Given the description of an element on the screen output the (x, y) to click on. 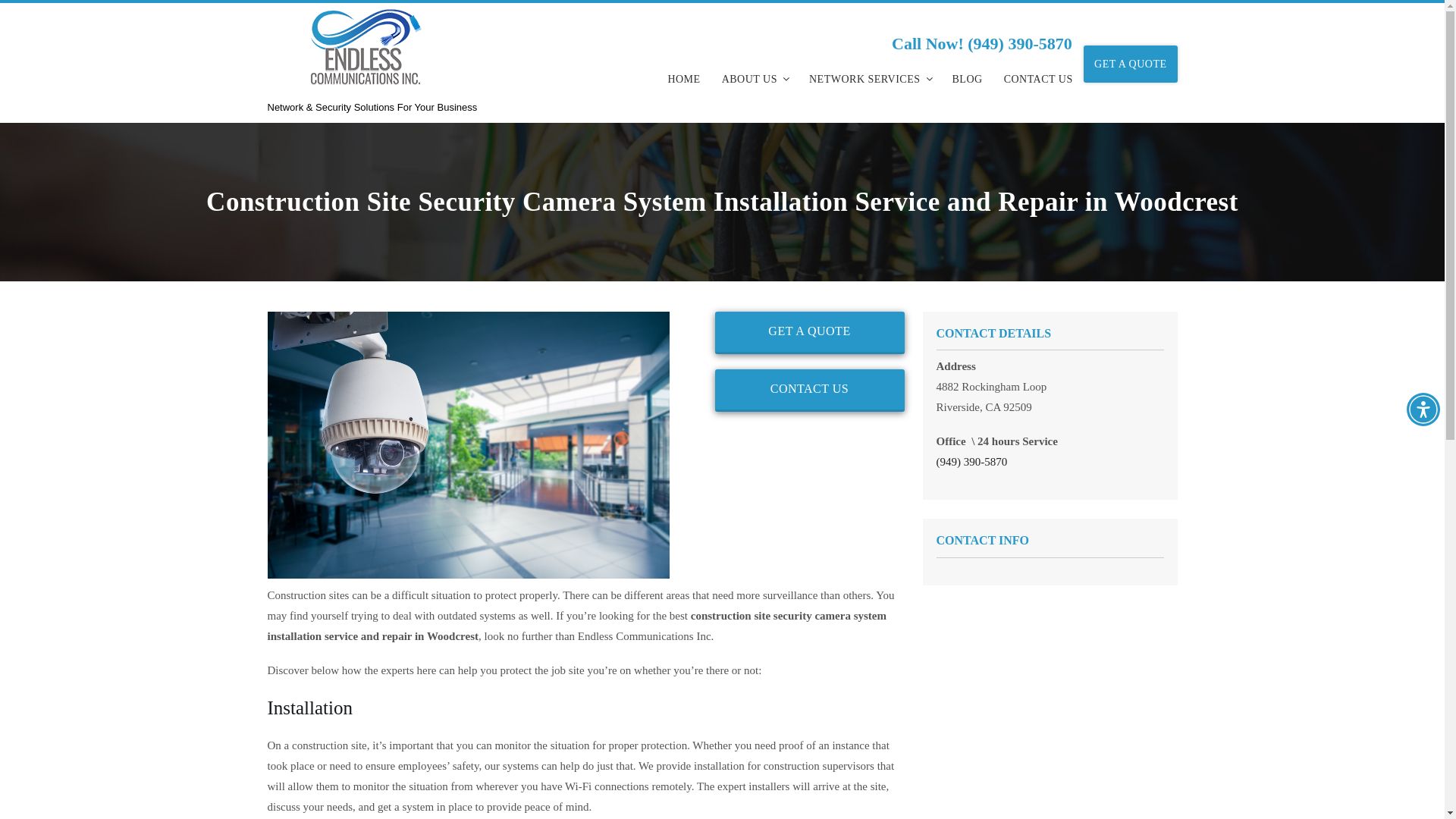
BLOG (967, 78)
CONTACT US (1037, 78)
HOME (683, 78)
CONTACT US (809, 390)
GET A QUOTE (1129, 63)
Accessibility Menu (1422, 409)
ABOUT US (754, 78)
NETWORK SERVICES (869, 78)
GET A QUOTE (809, 332)
